Given the description of an element on the screen output the (x, y) to click on. 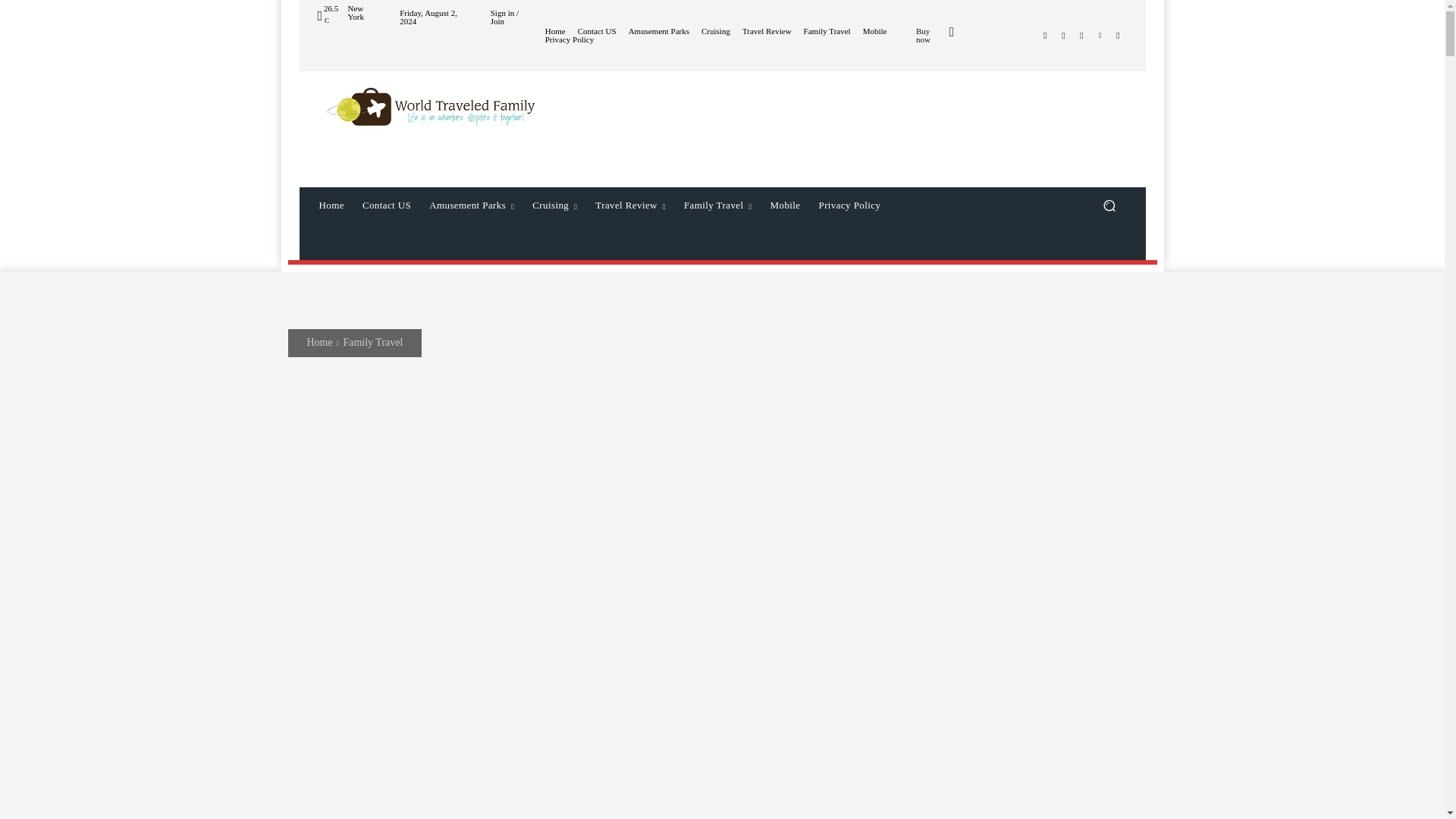
Instagram (1062, 35)
Facebook (1044, 35)
Amusement Parks (658, 31)
Contact US (596, 31)
Cruising (715, 31)
Travel Review (767, 31)
Home (555, 31)
Home (330, 205)
Vimeo (1099, 35)
Family Travel (826, 31)
Youtube (1117, 35)
Amusement Parks (471, 205)
Privacy Policy (569, 40)
Twitter (1080, 35)
Mobile (874, 31)
